Given the description of an element on the screen output the (x, y) to click on. 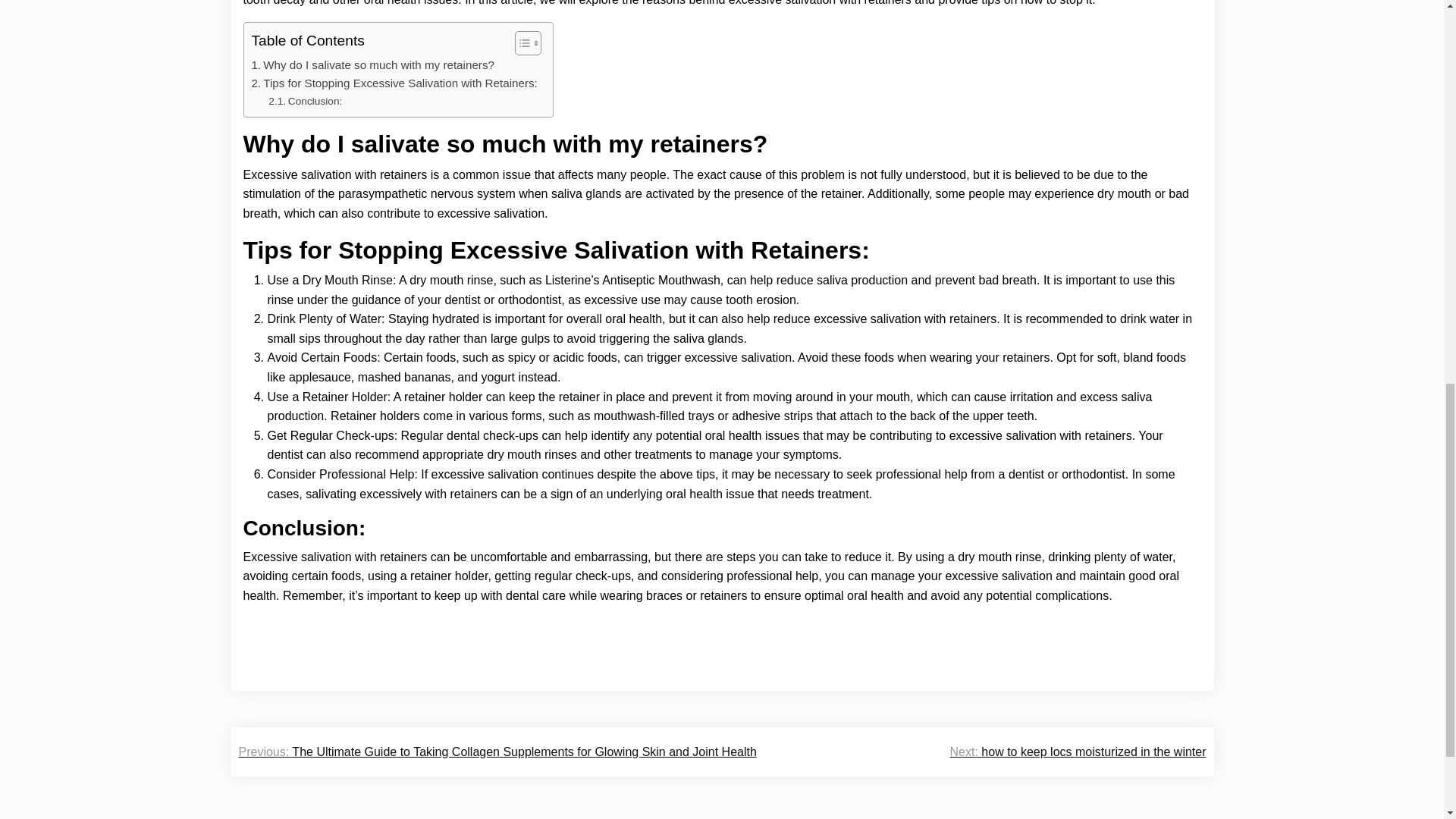
Why do I salivate so much with my retainers? (373, 65)
Tips for Stopping Excessive Salivation with Retainers: (394, 83)
Tips for Stopping Excessive Salivation with Retainers: (394, 83)
Conclusion: (304, 101)
Next: how to keep locs moisturized in the winter (1078, 752)
Why do I salivate so much with my retainers? (373, 65)
Conclusion: (304, 101)
